Given the description of an element on the screen output the (x, y) to click on. 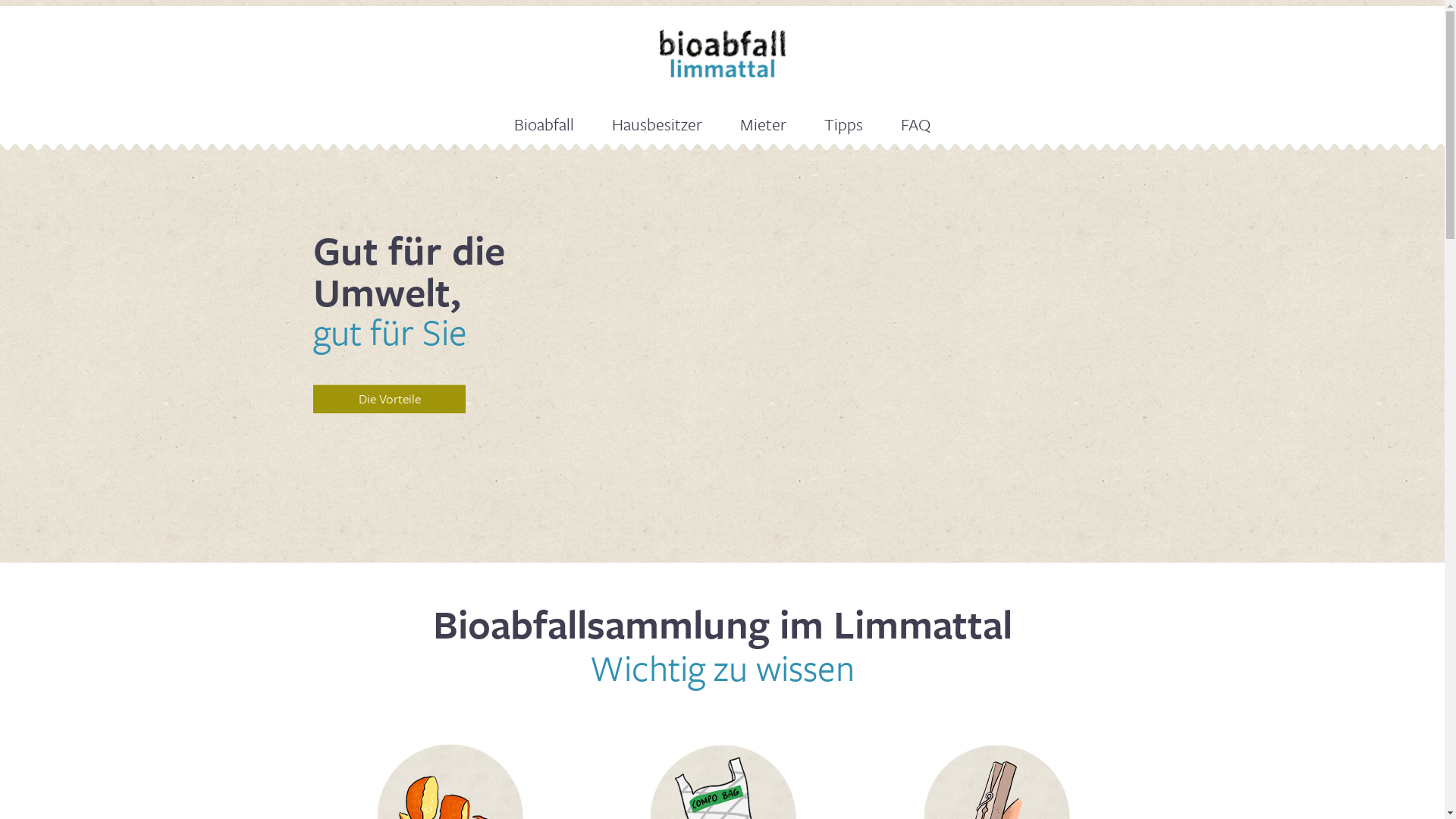
Mieter Element type: text (763, 123)
FAQ Element type: text (915, 123)
Hausbesitzer Element type: text (656, 123)
Bioabfall Element type: text (544, 123)
Tipps Element type: text (843, 123)
bioabfall limmattal Element type: hover (721, 52)
Die Vorteile Element type: text (389, 398)
